Given the description of an element on the screen output the (x, y) to click on. 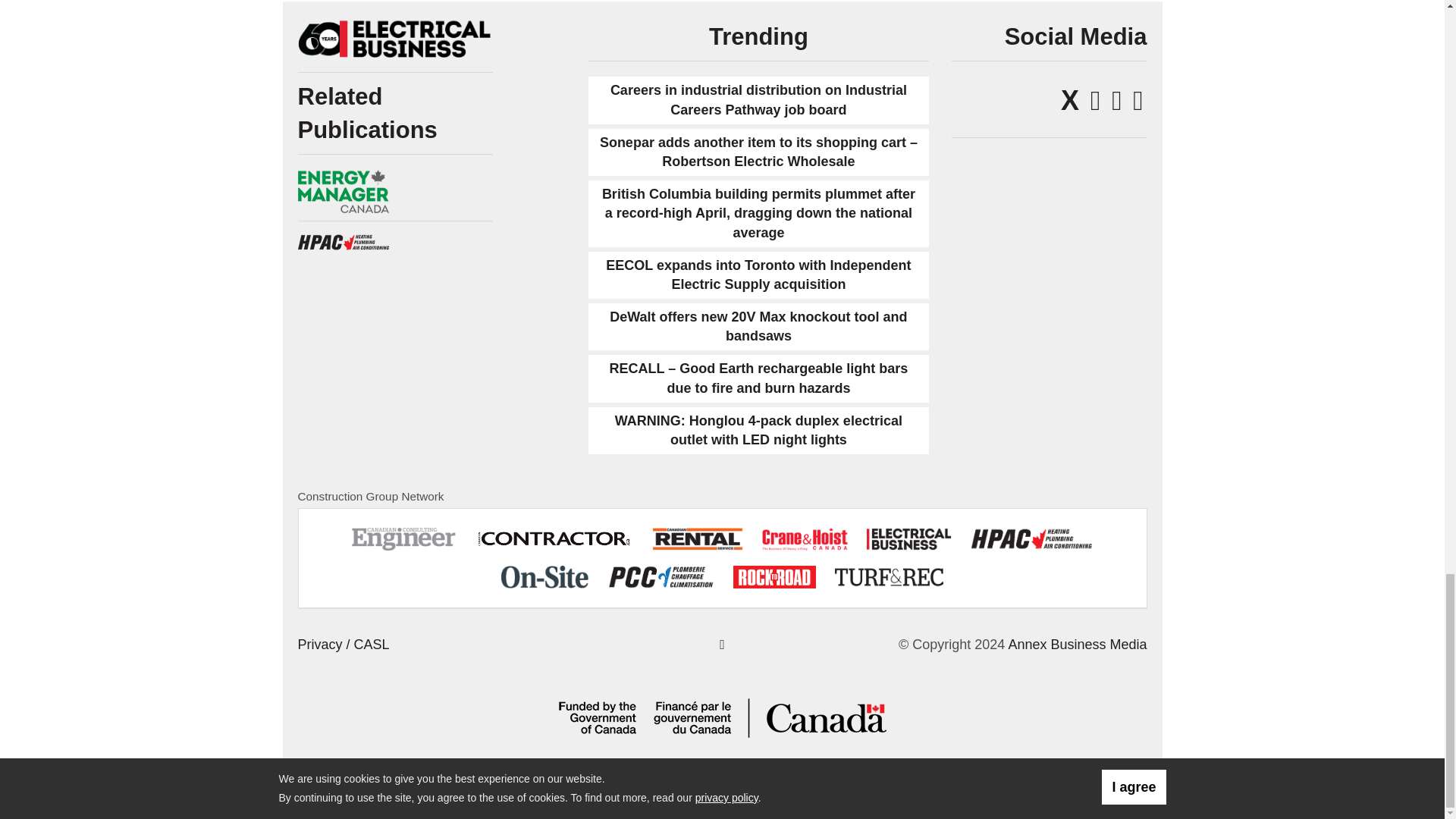
Annex Business Media (1077, 644)
Electrical Business (395, 38)
